Given the description of an element on the screen output the (x, y) to click on. 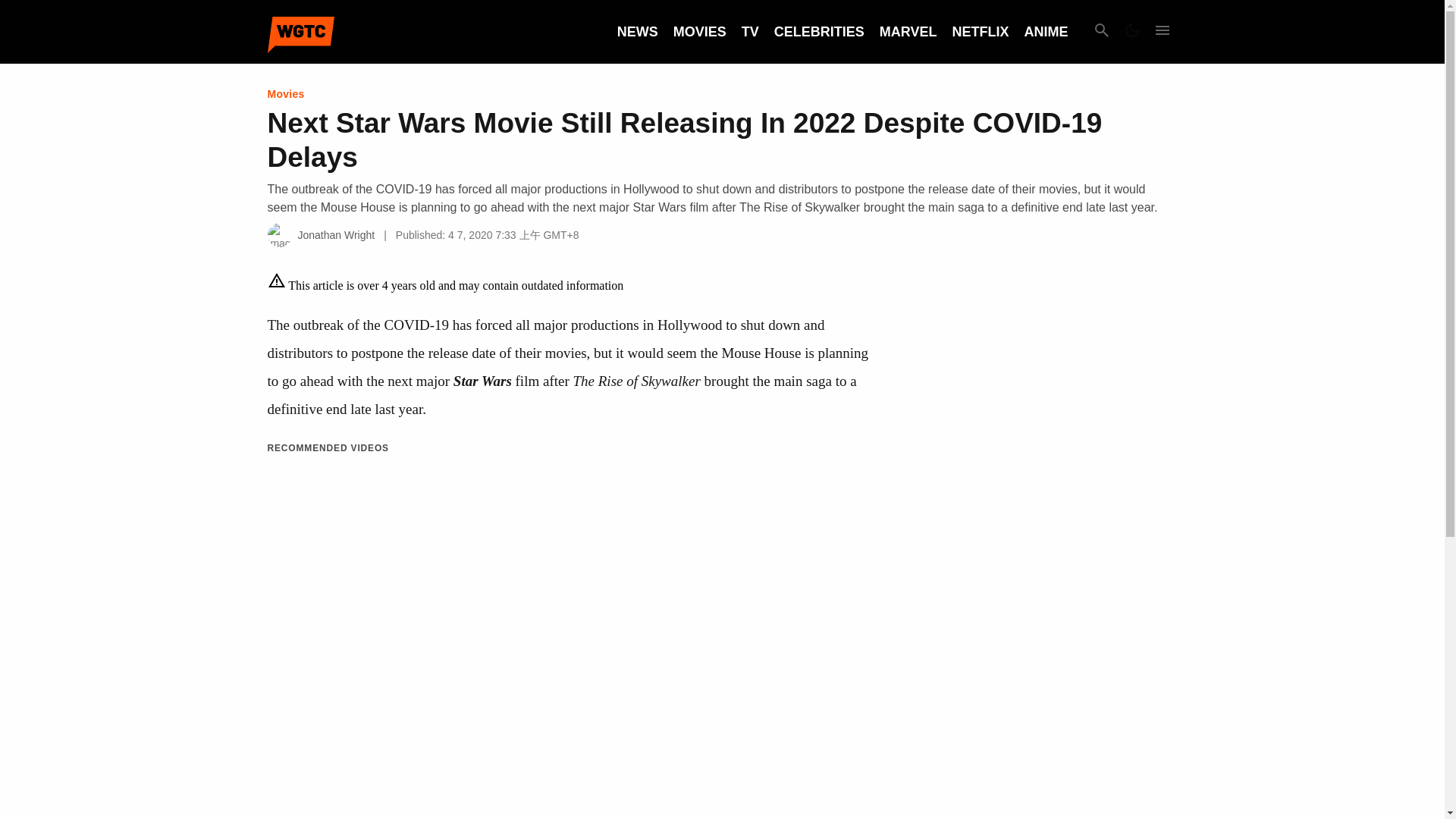
Dark Mode (1131, 31)
CELEBRITIES (819, 31)
Search (1101, 31)
ANIME (1045, 31)
MARVEL (908, 31)
TV (749, 31)
MOVIES (699, 31)
Expand Menu (1161, 31)
NETFLIX (980, 31)
NEWS (637, 31)
